Given the description of an element on the screen output the (x, y) to click on. 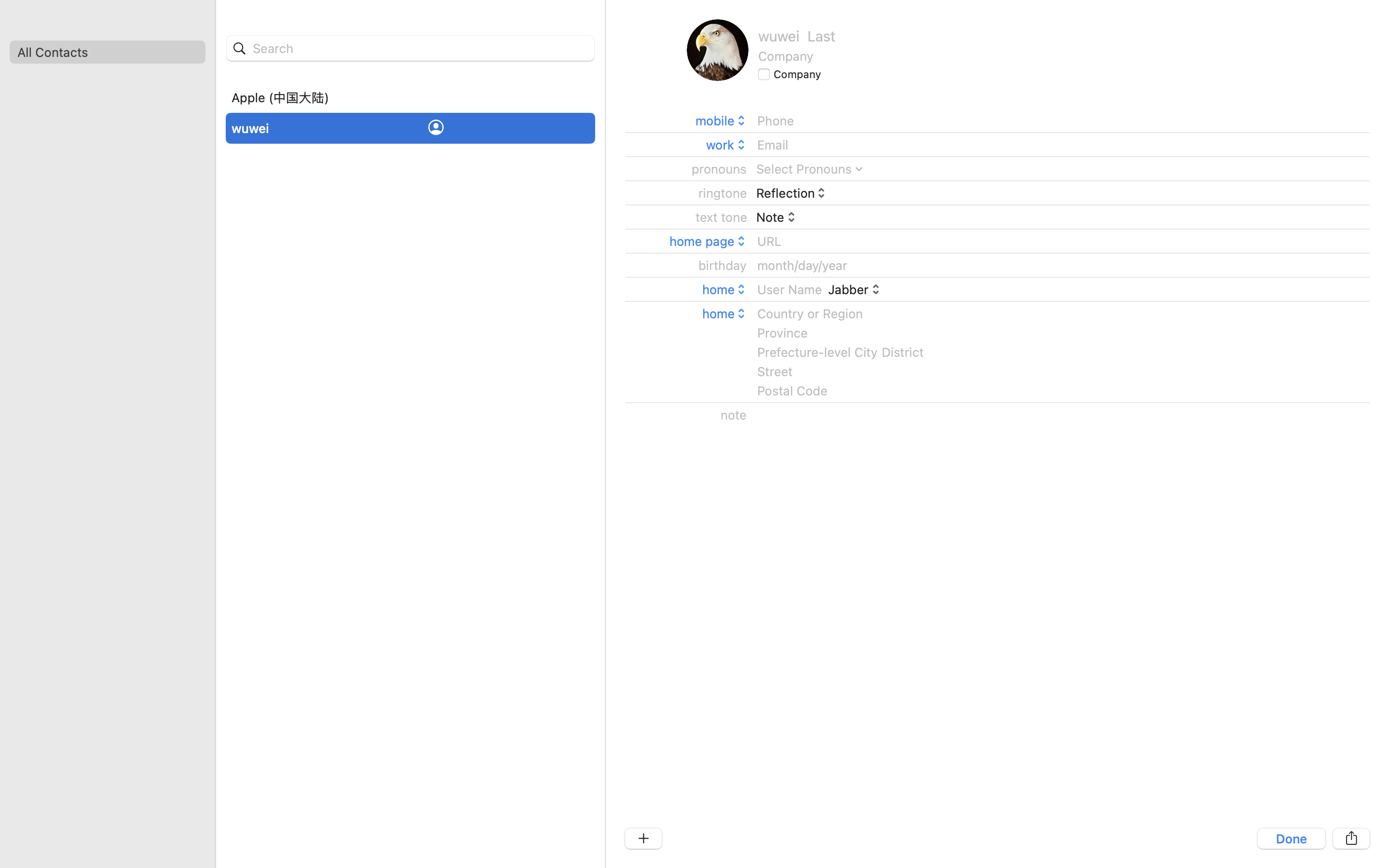
mobile Element type: AXStaticText (721, 120)
